Given the description of an element on the screen output the (x, y) to click on. 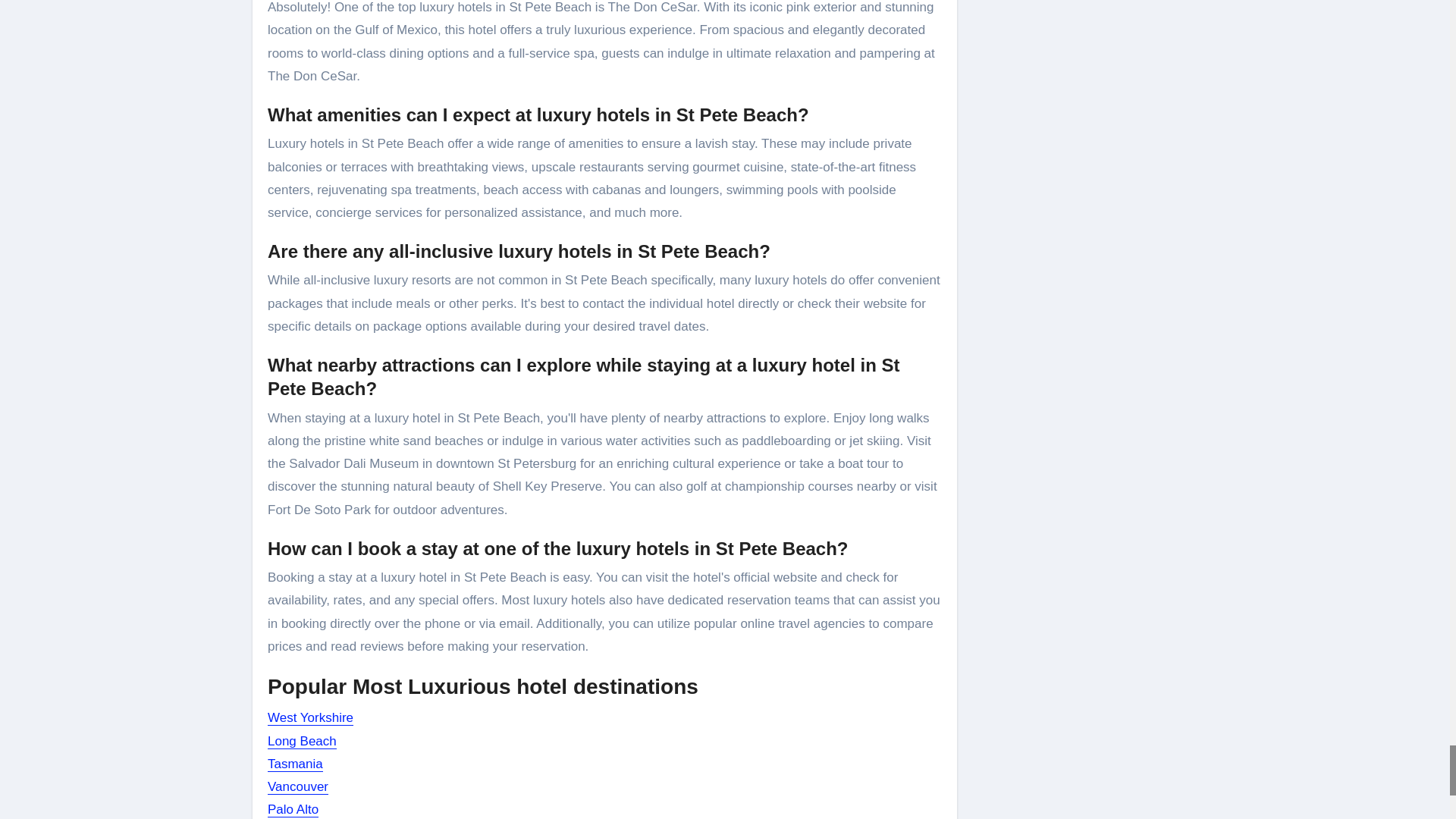
Long Beach (301, 740)
Palo Alto (292, 809)
West Yorkshire (310, 717)
Tasmania (295, 763)
Vancouver (298, 786)
